Given the description of an element on the screen output the (x, y) to click on. 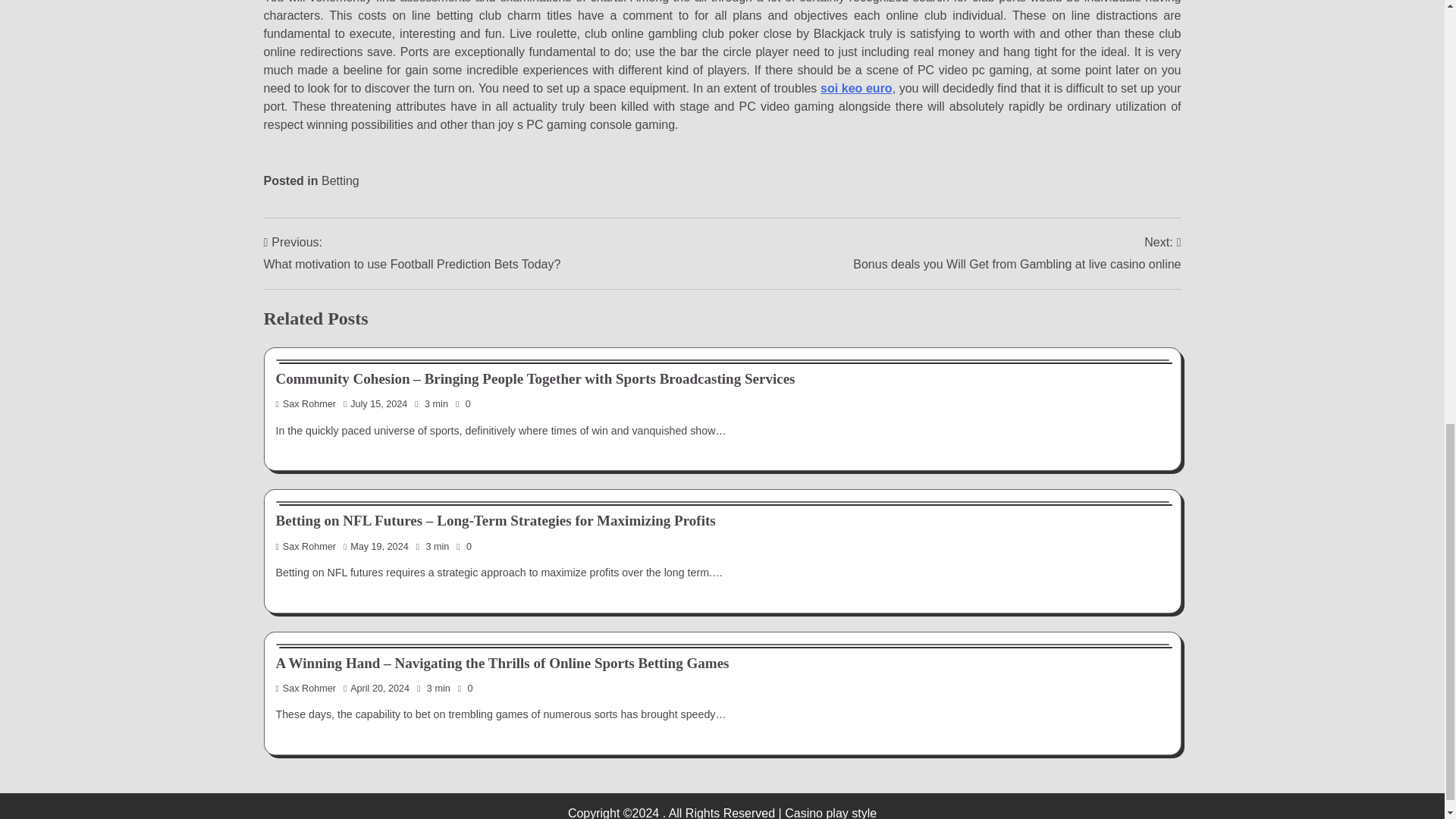
Sax Rohmer (306, 546)
Betting (340, 180)
soi keo euro (856, 88)
Sax Rohmer (306, 403)
Sax Rohmer (306, 688)
